Given the description of an element on the screen output the (x, y) to click on. 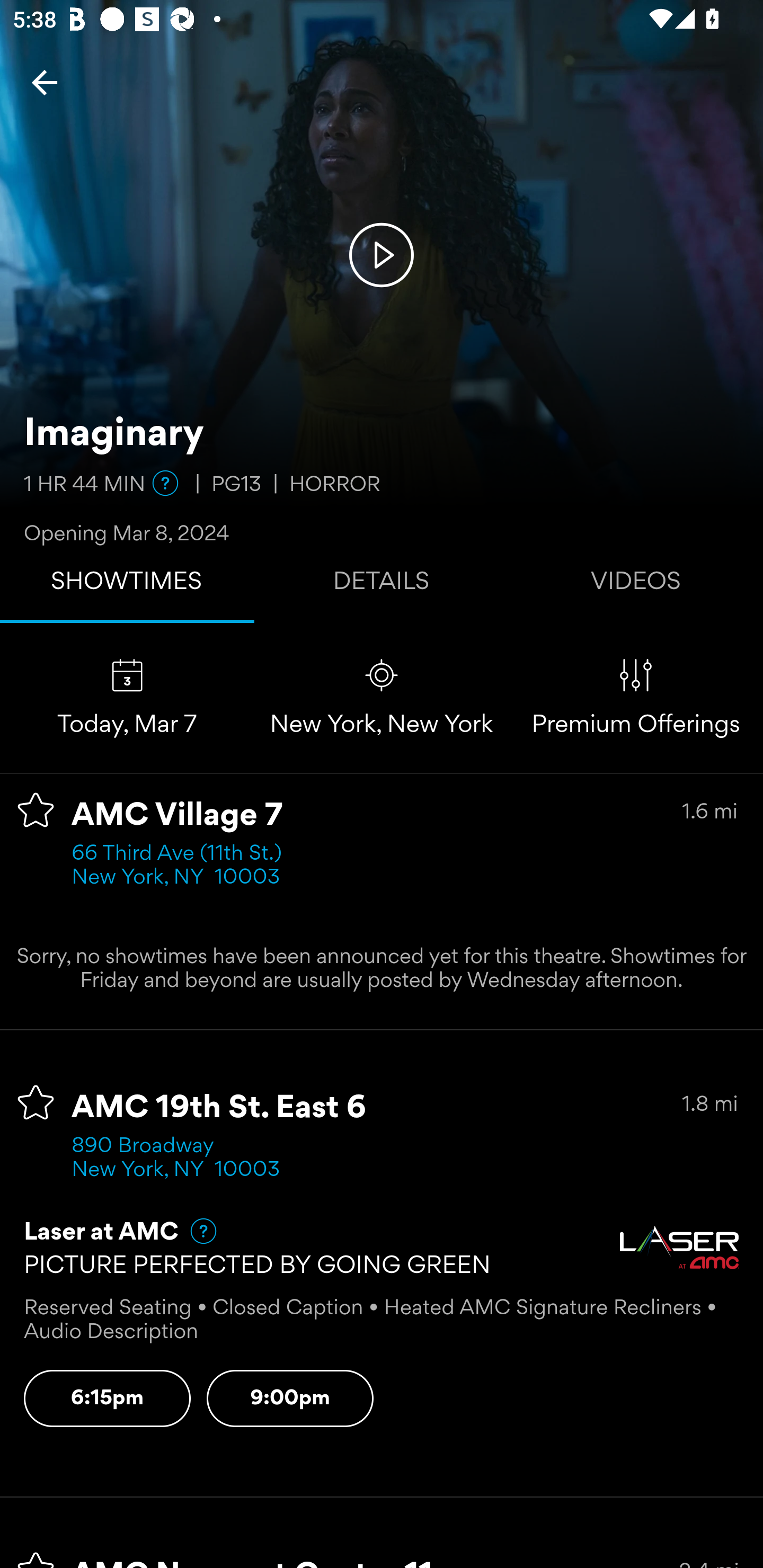
Back (44, 82)
Play (381, 254)
Help (165, 482)
SHOWTIMES
Tab 1 of 3 (127, 584)
DETAILS
Tab 2 of 3 (381, 584)
VIDEOS
Tab 3 of 3 (635, 584)
Change selected day
Today, Mar 7 (127, 697)
Change location
New York, New York (381, 697)
Premium Offerings
Premium Offerings (635, 697)
AMC Village 7 (177, 816)
66 Third Ave (11th St.)  
New York, NY  10003 (182, 866)
AMC 19th St. East 6 (219, 1108)
890 Broadway  
New York, NY  10003 (176, 1158)
Help (195, 1230)
